Given the description of an element on the screen output the (x, y) to click on. 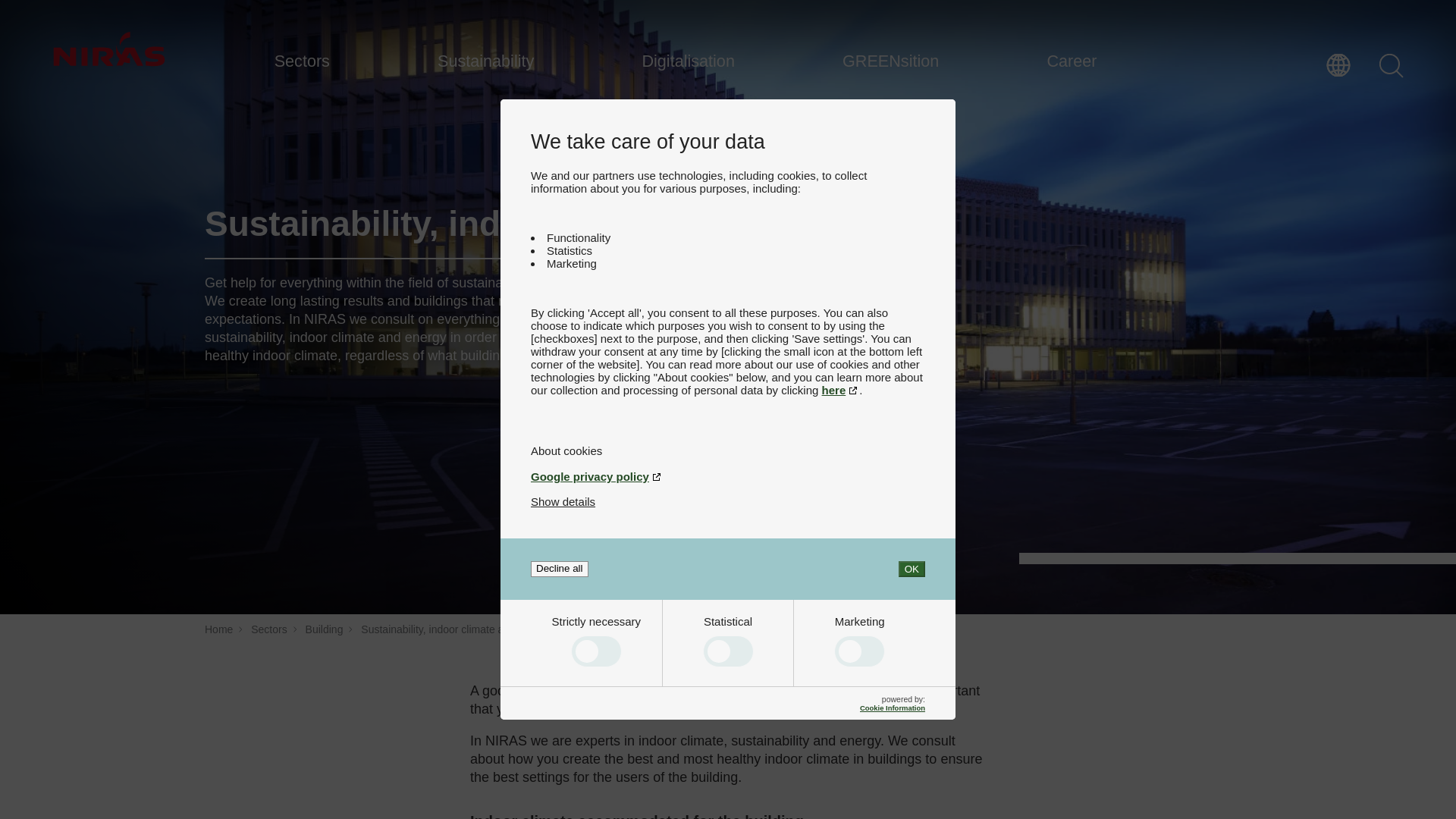
Decline all (559, 569)
Cookie Information (892, 707)
OK (911, 569)
About cookies (727, 450)
here (841, 390)
Google privacy policy (727, 476)
Show details (563, 501)
